Given the description of an element on the screen output the (x, y) to click on. 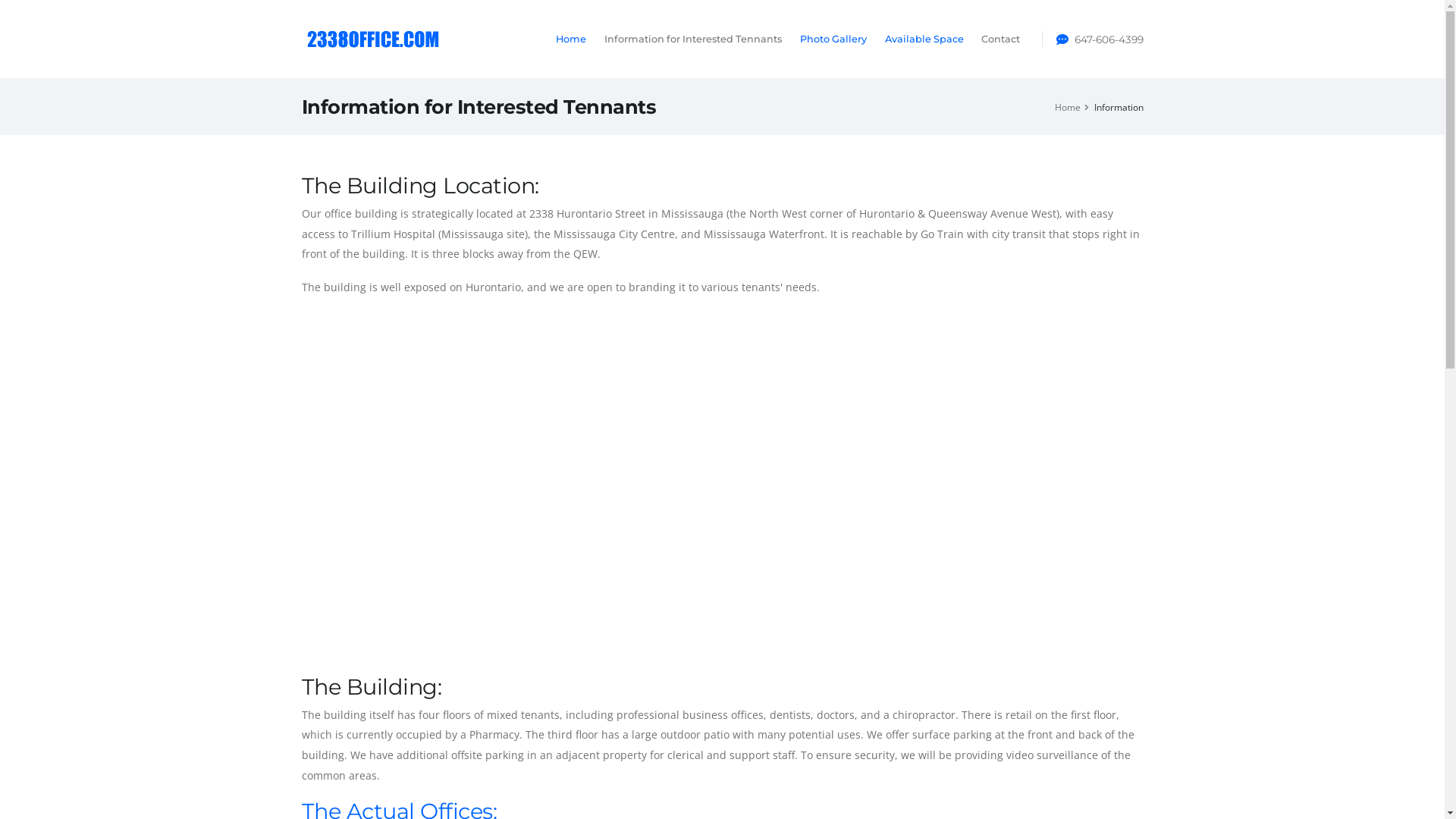
Information for Interested Tennants Element type: text (693, 39)
647-606-4399 Element type: text (1107, 39)
Available Space Element type: text (924, 39)
Home Element type: text (1066, 106)
Photo Gallery Element type: text (833, 39)
Home Element type: text (571, 39)
Contact Element type: text (1001, 39)
